Given the description of an element on the screen output the (x, y) to click on. 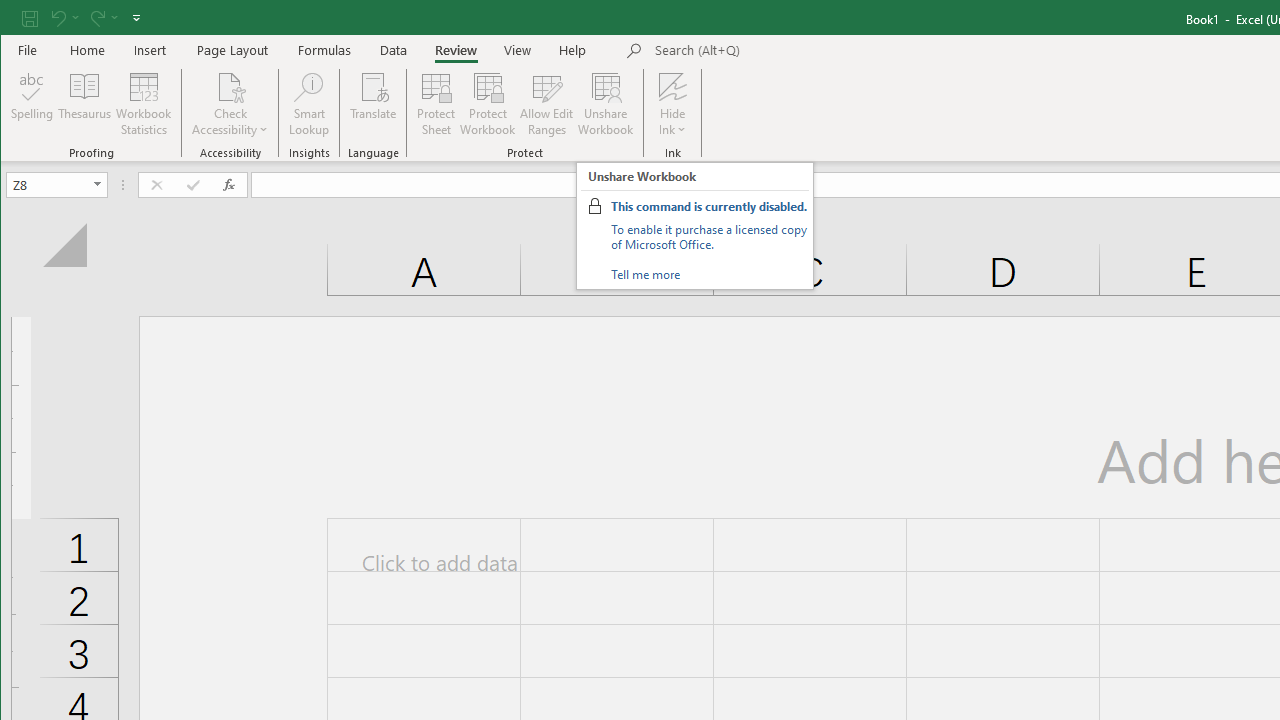
Allow Edit Ranges (547, 104)
Protect Sheet... (436, 104)
